Given the description of an element on the screen output the (x, y) to click on. 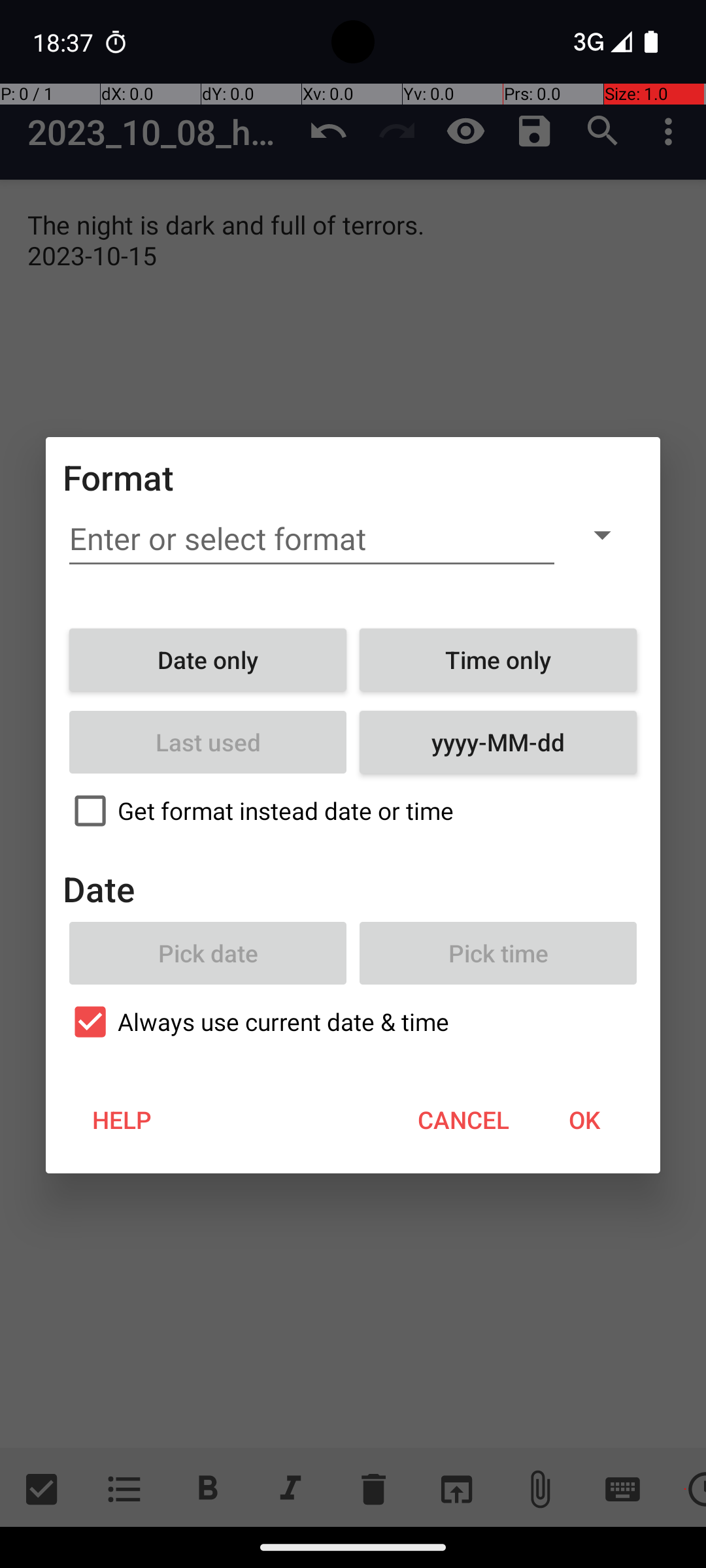
18:37 Element type: android.widget.TextView (64, 41)
